Given the description of an element on the screen output the (x, y) to click on. 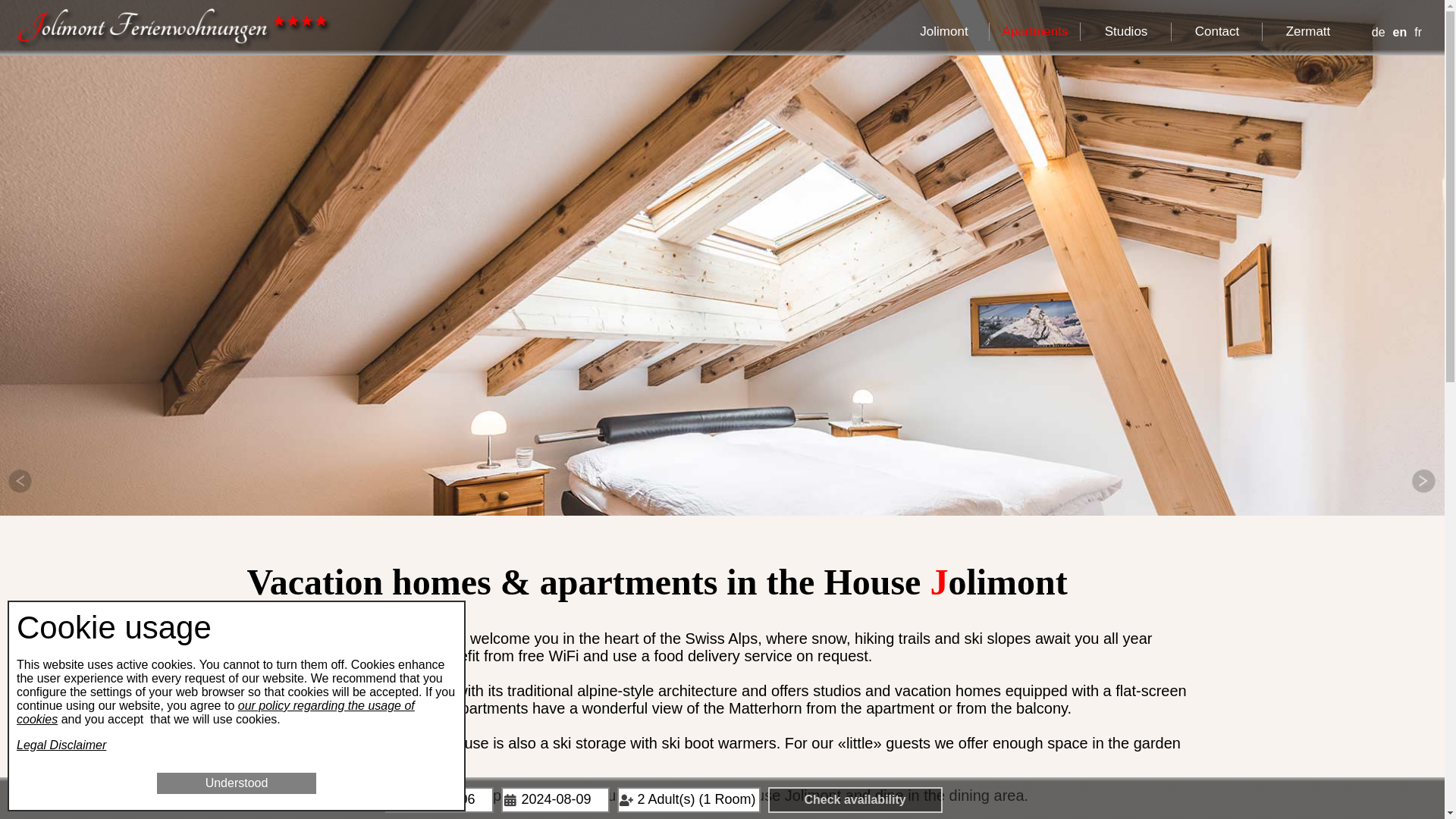
Jolimont Ferienwohnungen in Zermatt (170, 29)
Studios (1125, 31)
Jolimont (943, 31)
Apartments (1034, 31)
de (1378, 31)
Englisch (1400, 31)
en (1400, 31)
Deutsch (1378, 31)
Contact (1216, 31)
Zermatt (1307, 31)
